Given the description of an element on the screen output the (x, y) to click on. 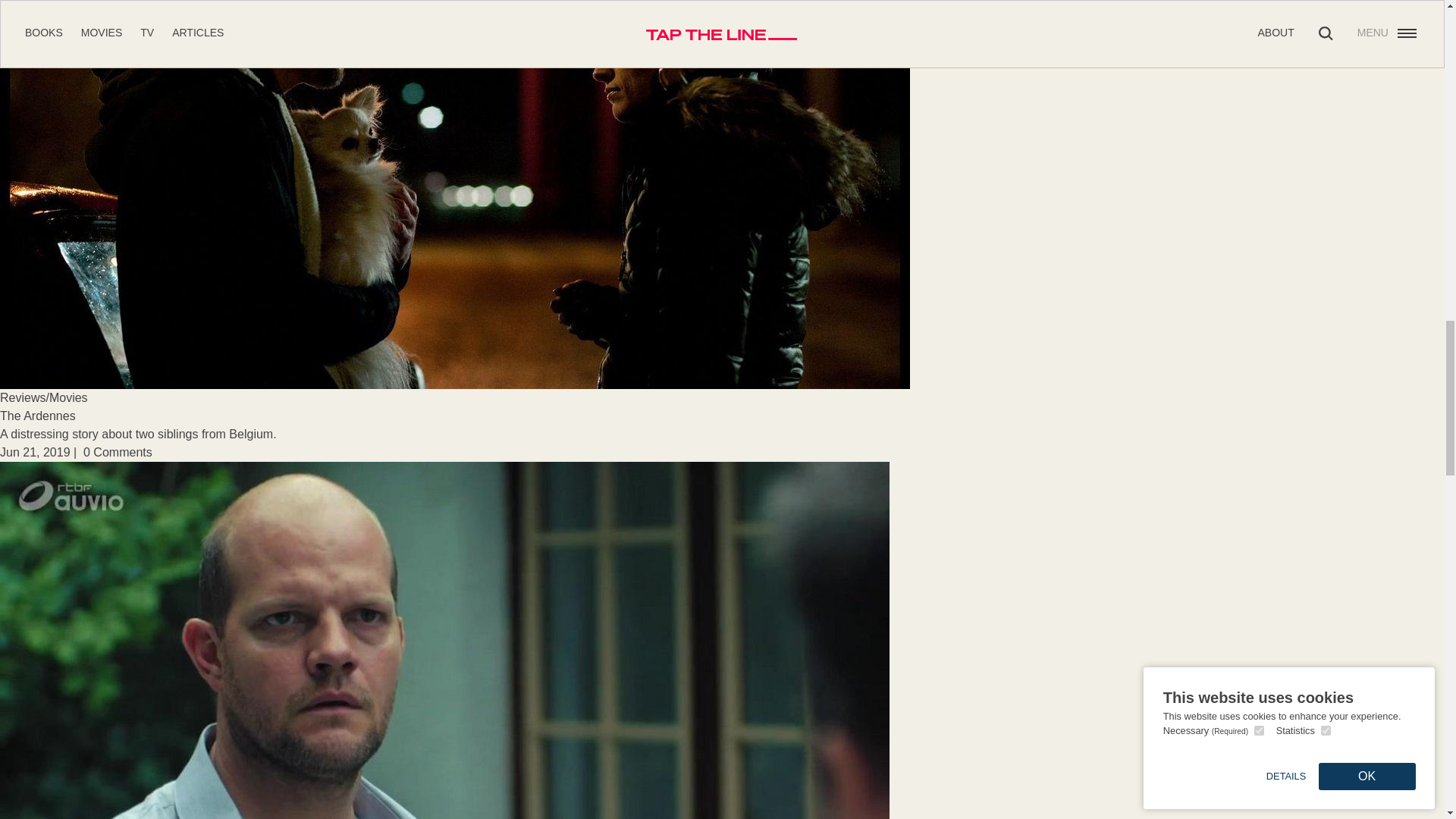
The Ardennes (37, 415)
0 Comments (117, 451)
